Given the description of an element on the screen output the (x, y) to click on. 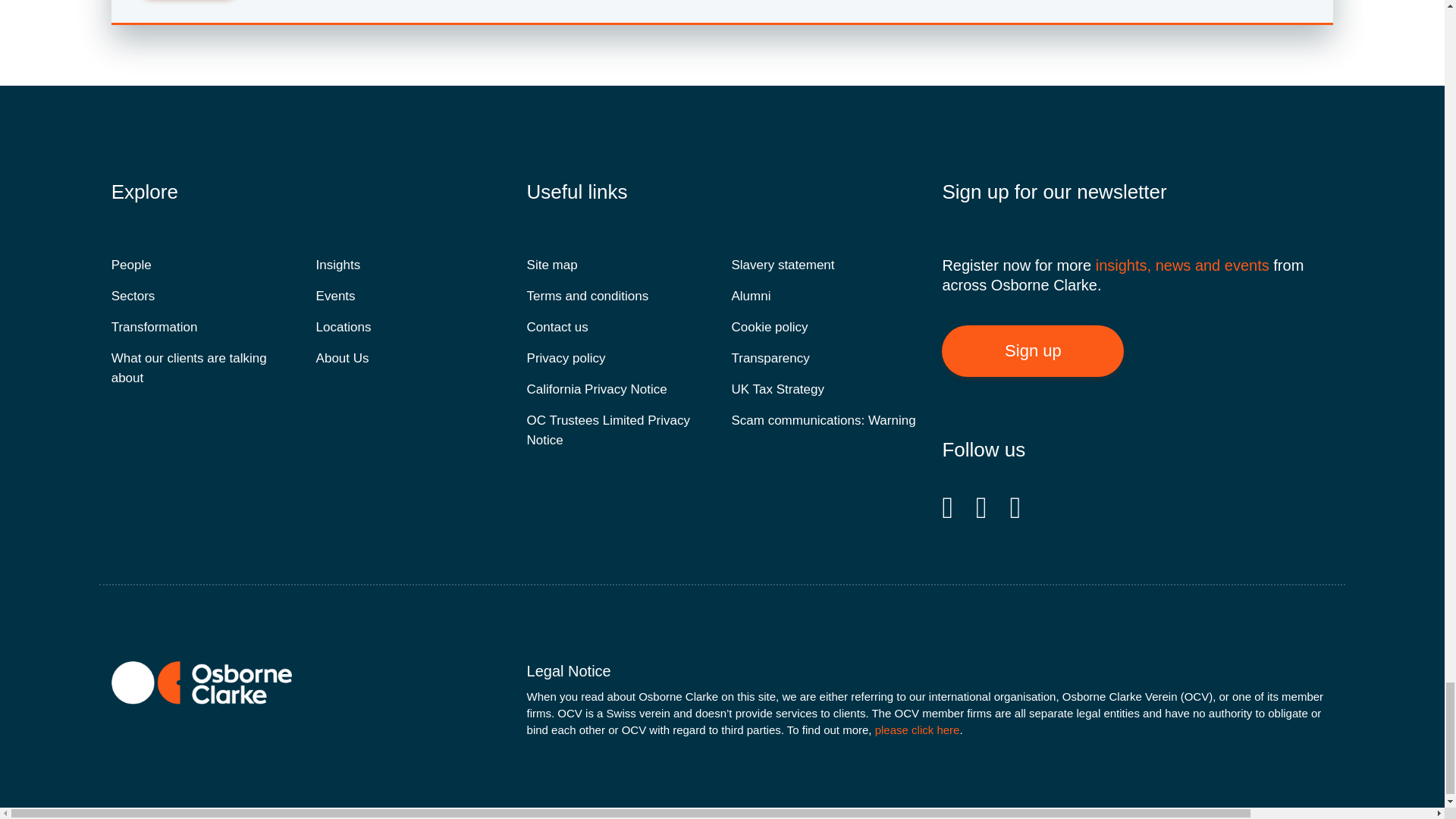
Osborne Clarke (202, 682)
